Given the description of an element on the screen output the (x, y) to click on. 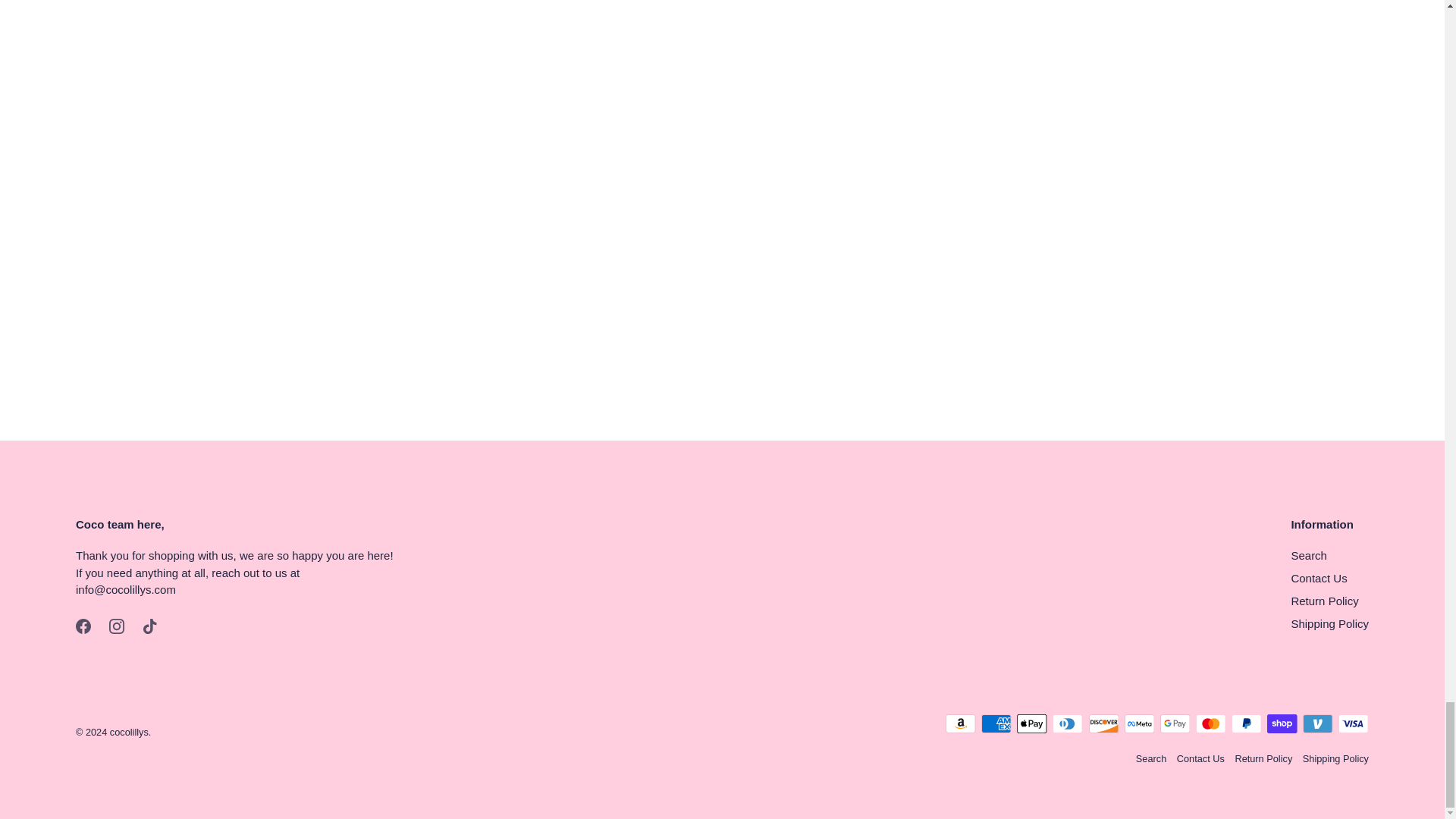
Diners Club (1067, 723)
Shop Pay (1281, 723)
Meta Pay (1139, 723)
Amazon (959, 723)
Apple Pay (1031, 723)
PayPal (1245, 723)
Instagram (116, 626)
Mastercard (1210, 723)
Venmo (1317, 723)
Discover (1104, 723)
